Given the description of an element on the screen output the (x, y) to click on. 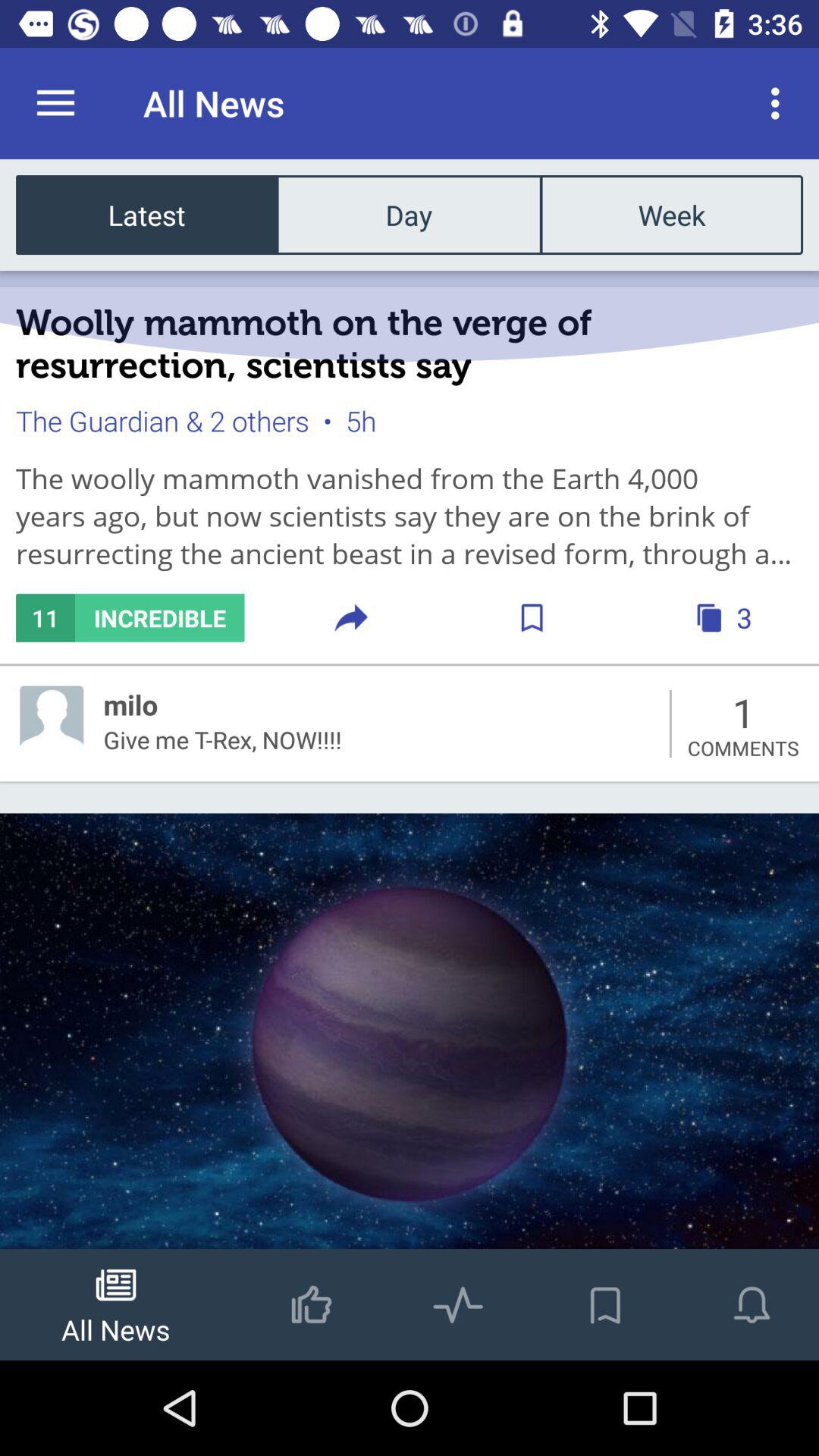
click the latest icon (146, 214)
